Given the description of an element on the screen output the (x, y) to click on. 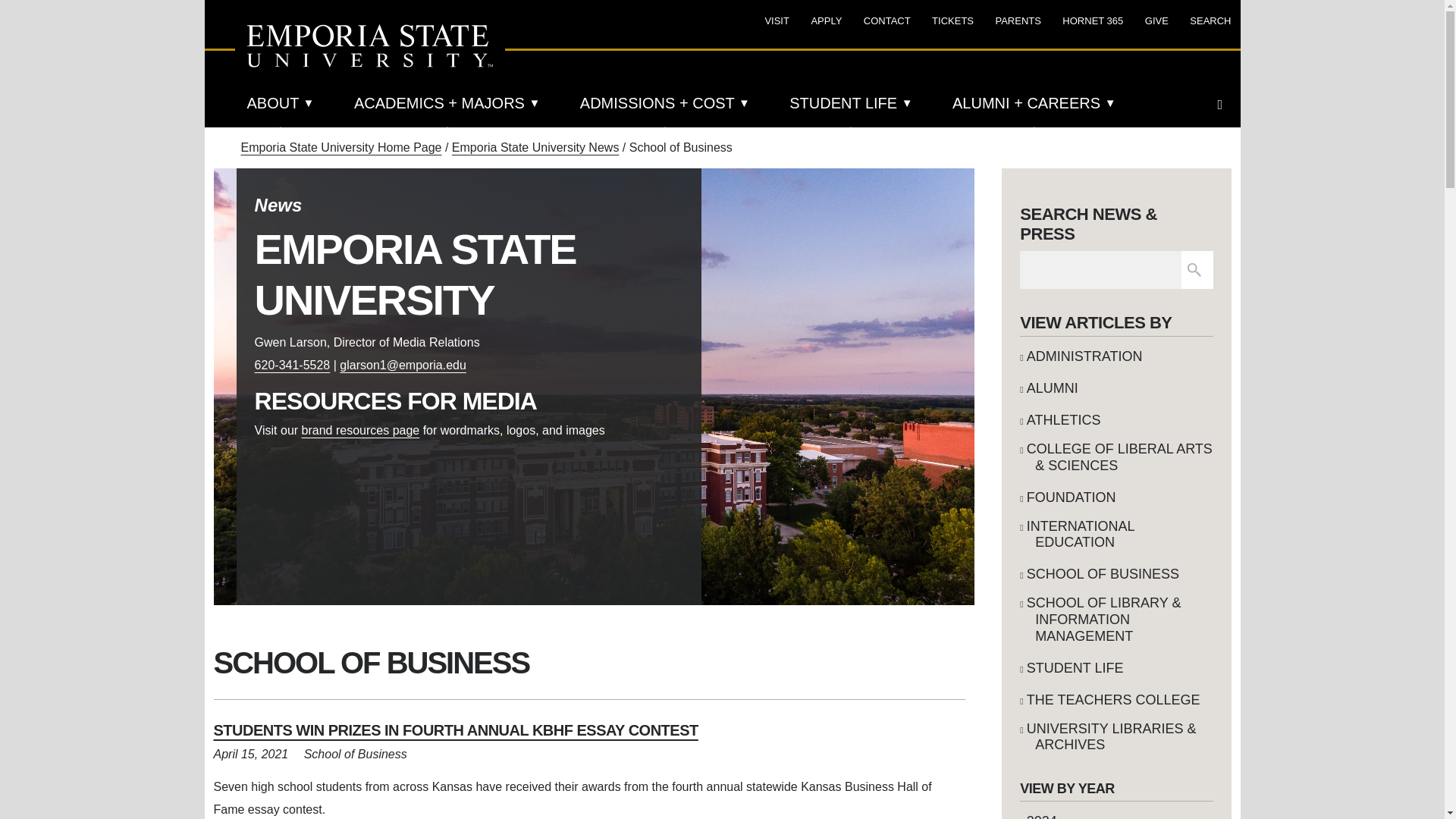
Search (1194, 269)
Search (1194, 269)
Search Emporia.edu (1224, 104)
